Given the description of an element on the screen output the (x, y) to click on. 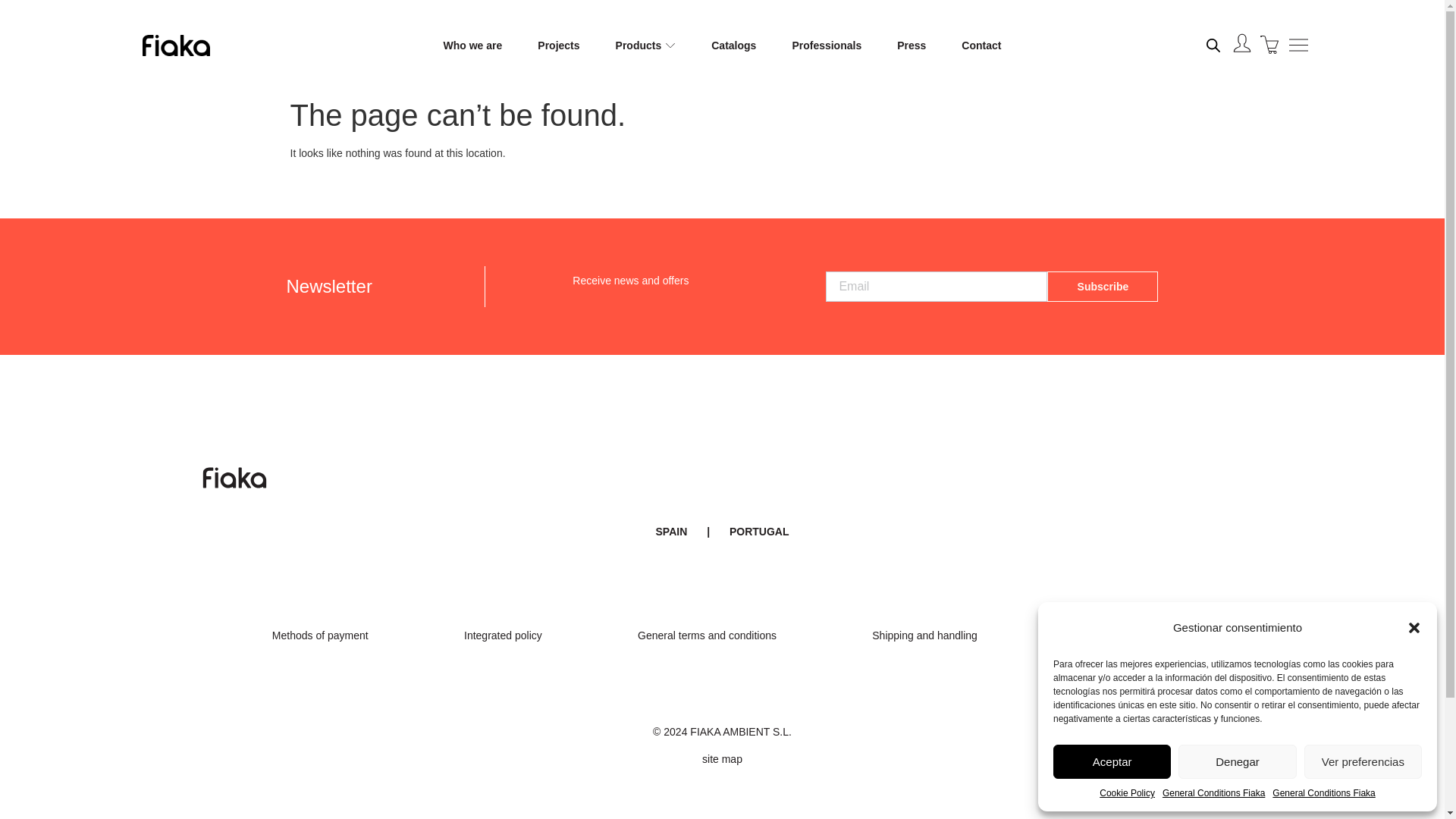
Aceptar (1111, 761)
Apariciones en prensa (911, 45)
Ver preferencias (1363, 761)
Profesionales (826, 45)
Proyectos (558, 45)
Contact (980, 45)
Productos (638, 45)
Contacta con nosotros (980, 45)
Who we are (473, 45)
Cookie Policy (1126, 793)
General Conditions Fiaka (1213, 793)
Press (911, 45)
Projects (558, 45)
Catalogs (733, 45)
Professionals (826, 45)
